Given the description of an element on the screen output the (x, y) to click on. 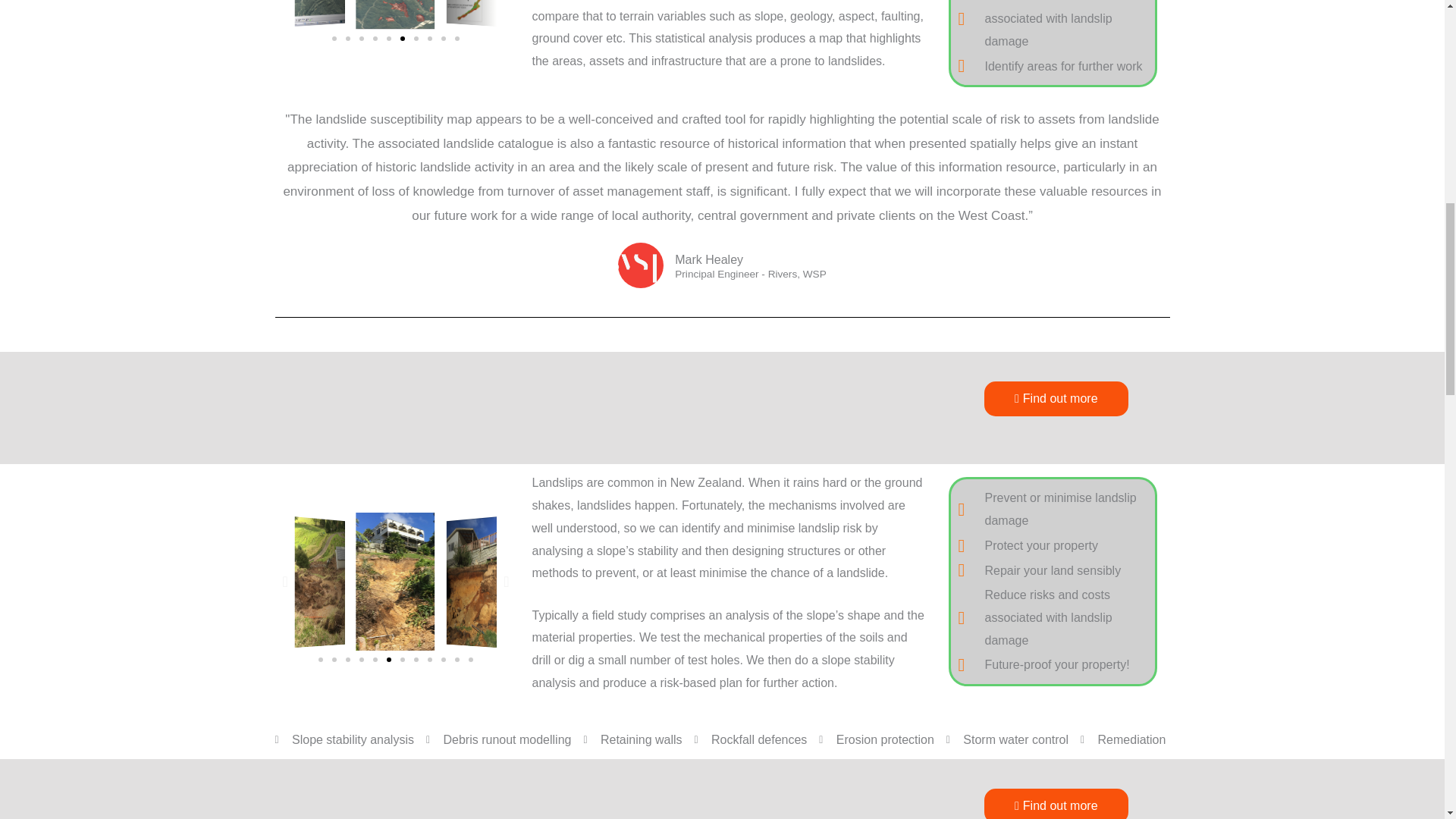
Find out more (1056, 398)
Find out more (1056, 803)
